Given the description of an element on the screen output the (x, y) to click on. 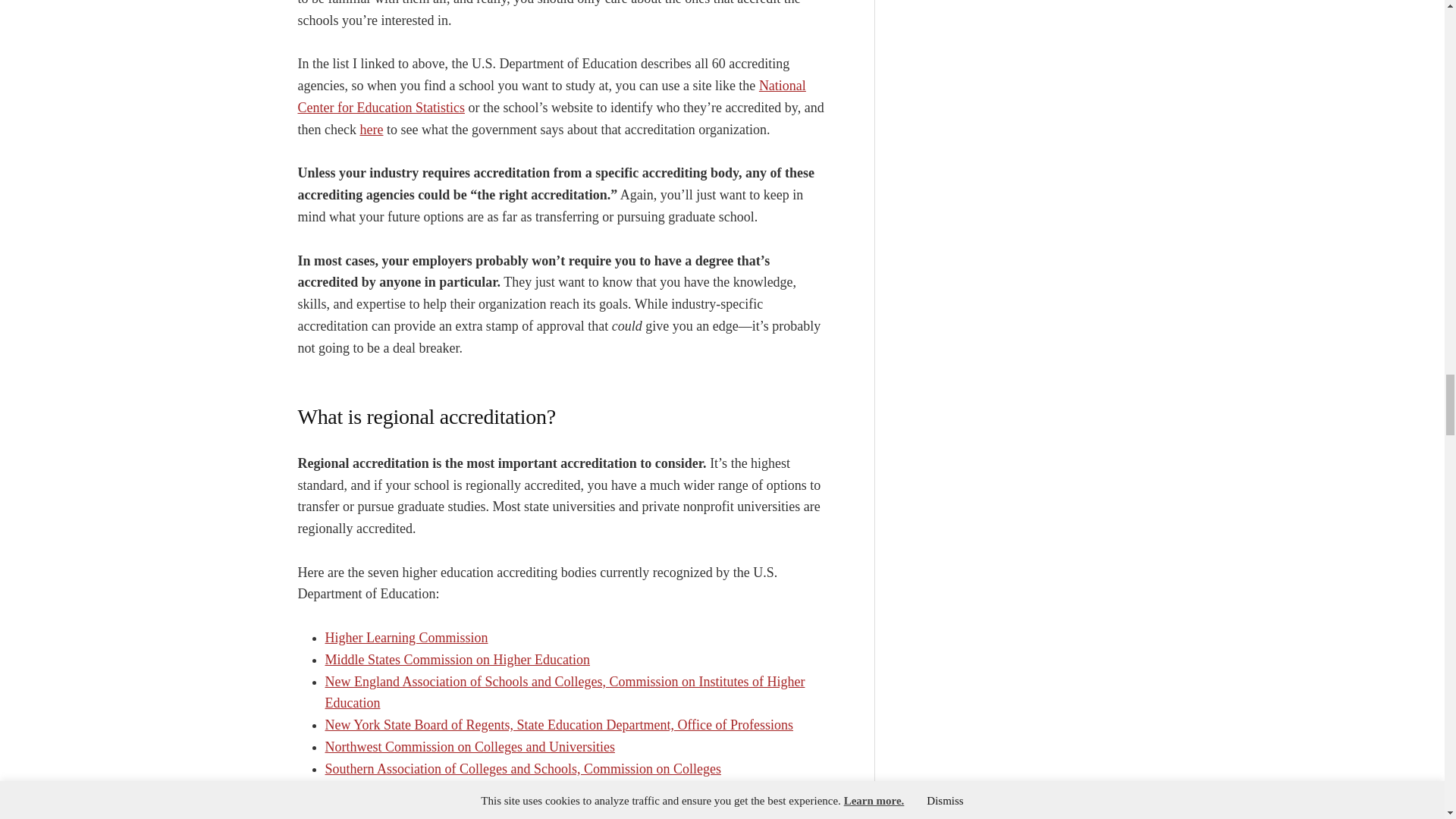
Higher Learning Commission (405, 637)
Middle States Commission on Higher Education (456, 659)
here (370, 129)
Northwest Commission on Colleges and Universities (469, 746)
National Center for Education Statistics (551, 96)
